Given the description of an element on the screen output the (x, y) to click on. 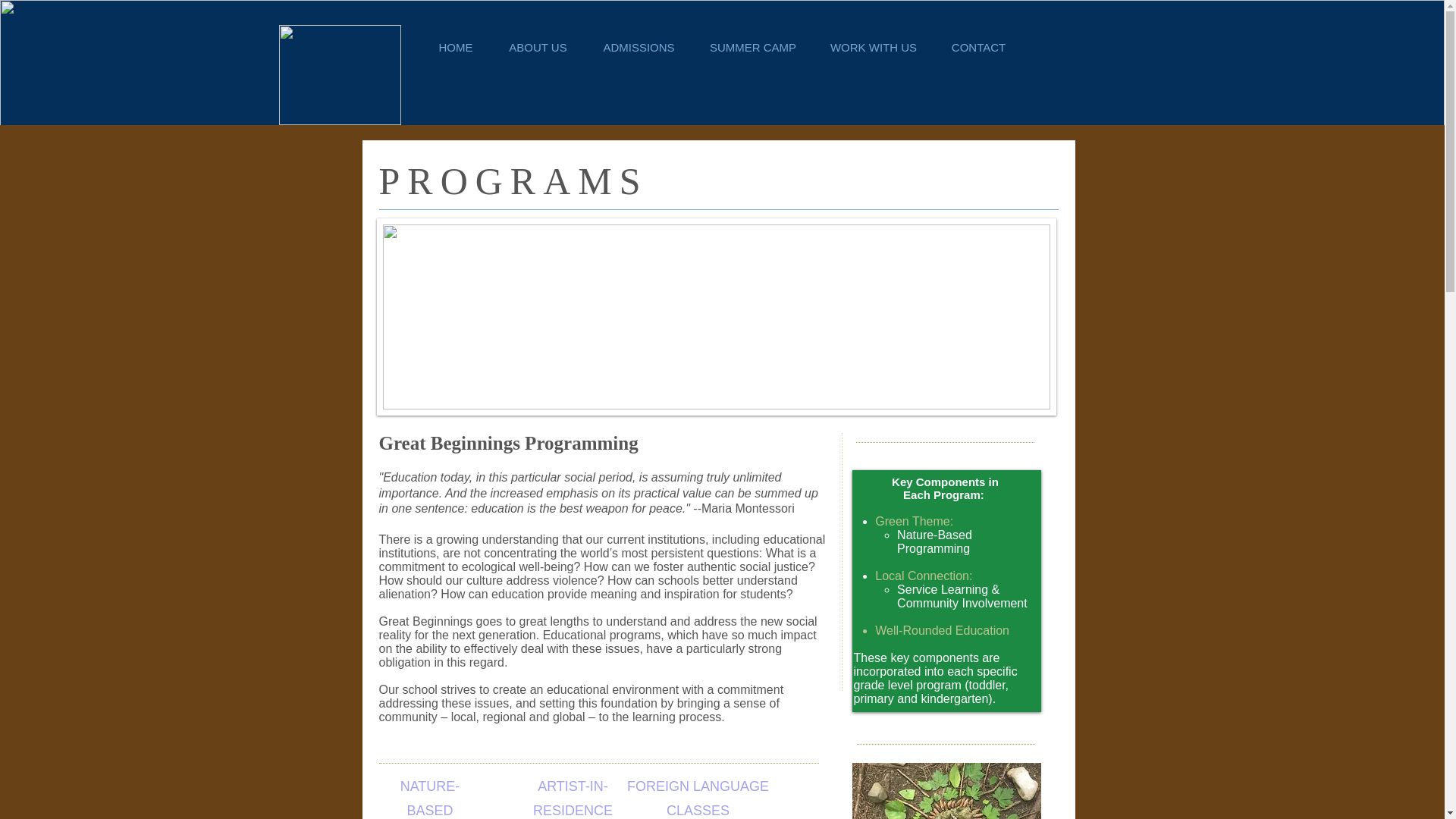
HOME (455, 47)
SUMMER CAMP (753, 47)
ABOUT US (538, 47)
WORK WITH US (872, 47)
ADMISSIONS (639, 47)
CONTACT (978, 47)
